Given the description of an element on the screen output the (x, y) to click on. 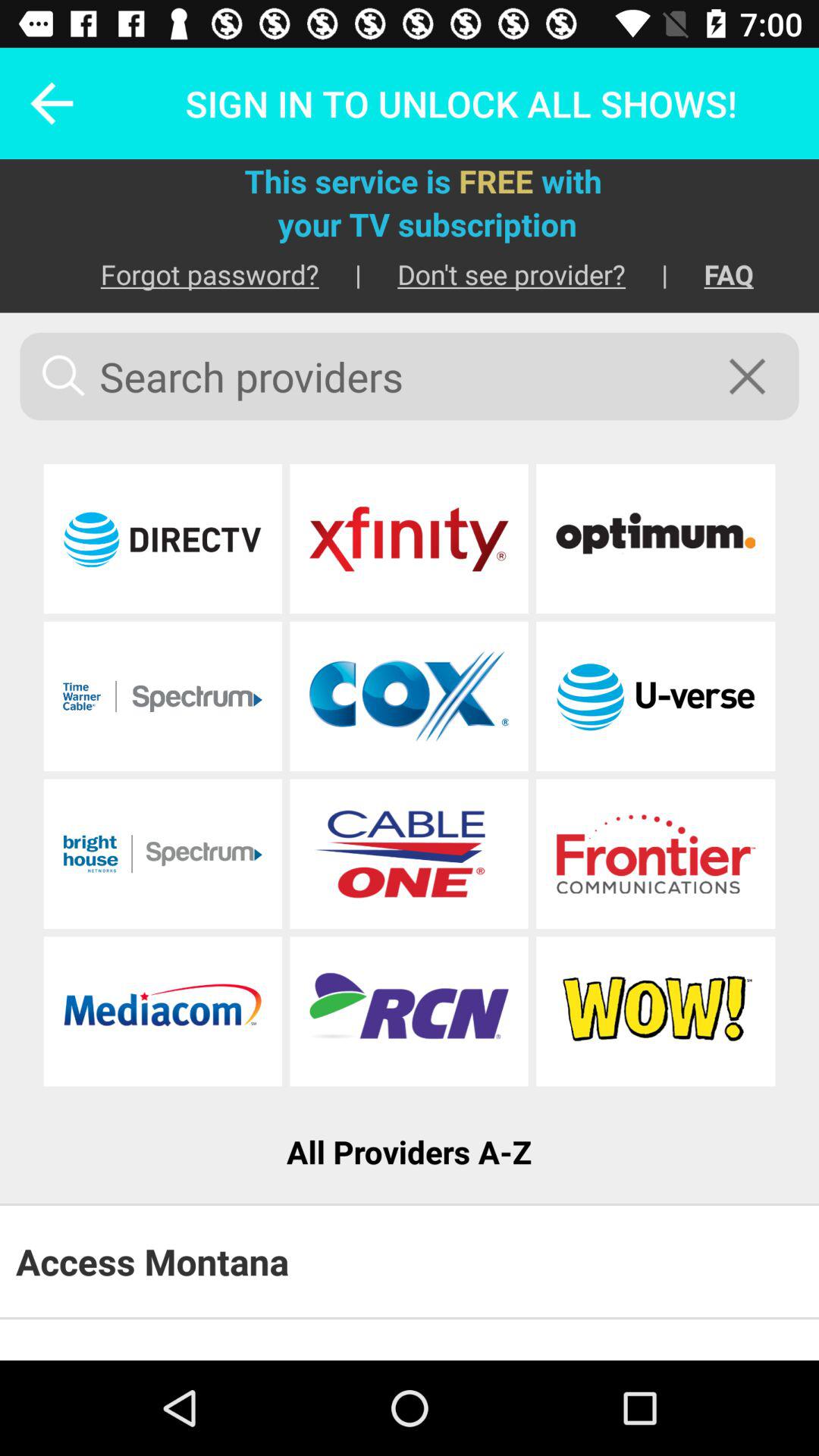
choose provider (655, 538)
